Given the description of an element on the screen output the (x, y) to click on. 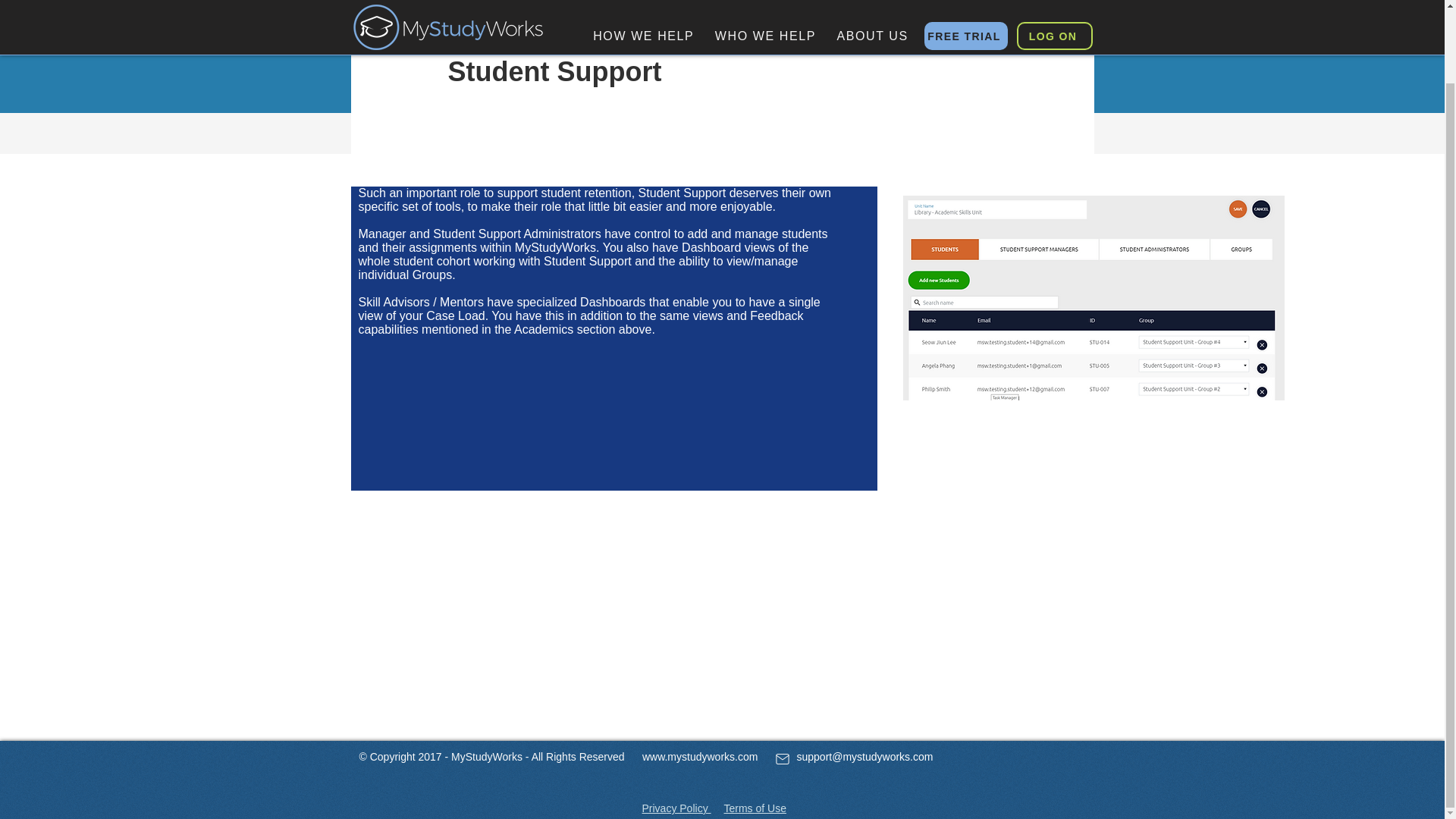
Privacy Policy  (676, 808)
www.mystudyworks.com (699, 756)
Terms of Use (754, 808)
